Given the description of an element on the screen output the (x, y) to click on. 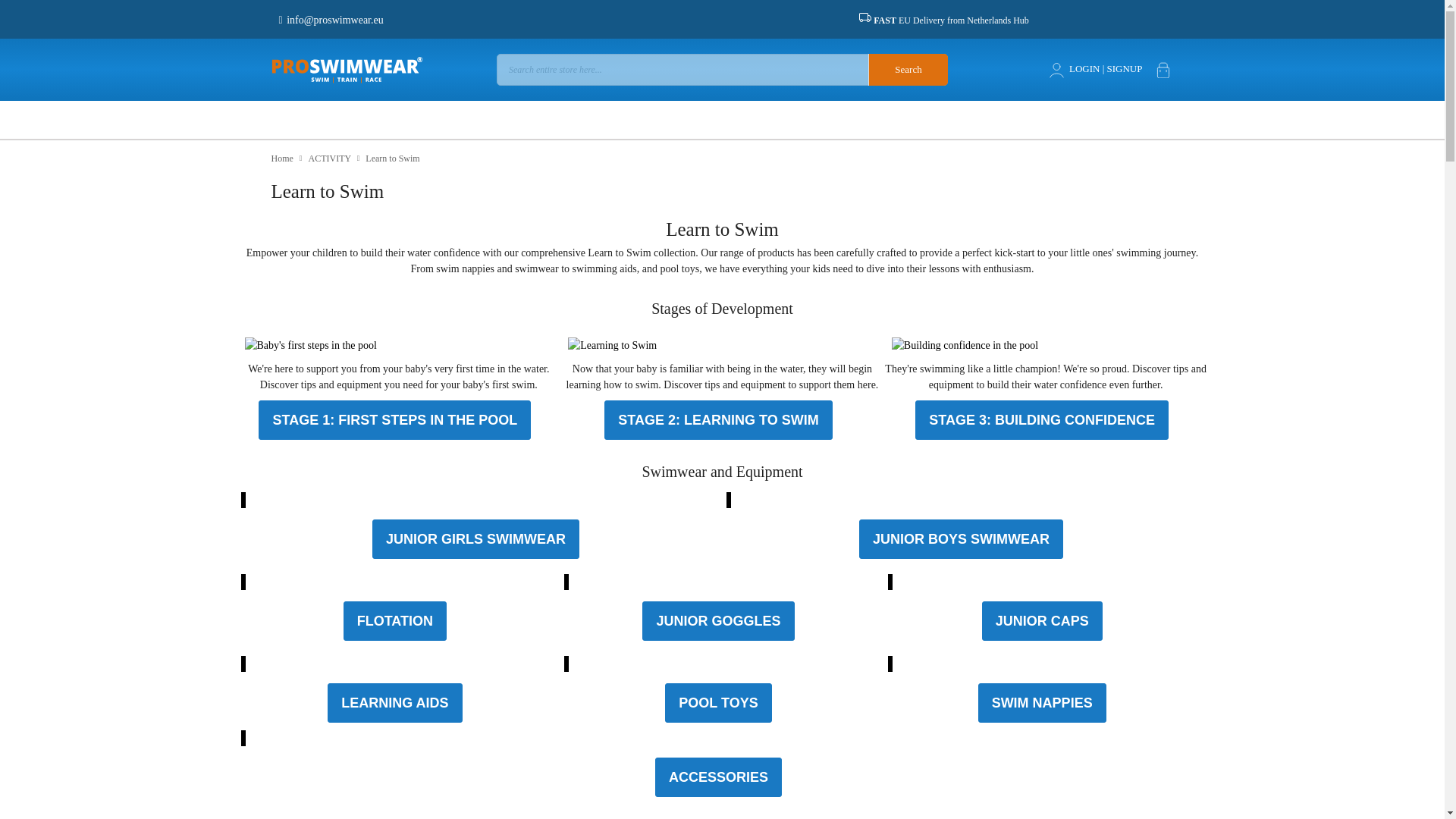
usericon (1056, 68)
My Cart (1163, 66)
Search (907, 69)
ProSwimwear (346, 69)
ProSwimwear (327, 69)
Search (907, 69)
